Given the description of an element on the screen output the (x, y) to click on. 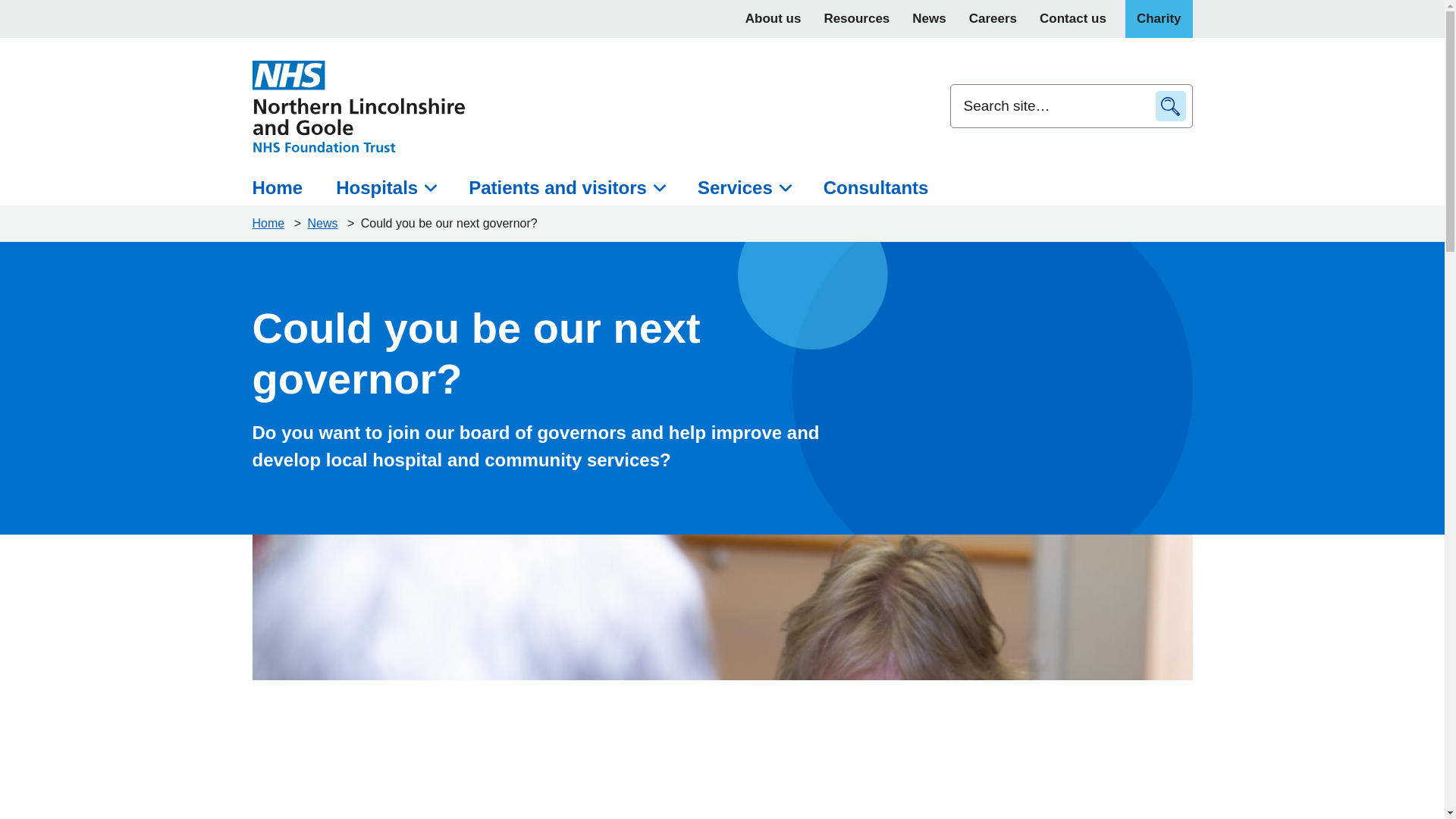
Homepage (268, 223)
Resources (856, 18)
Patients and visitors (566, 187)
Services (743, 187)
Go to News. (323, 223)
Hospitals (384, 187)
Charity (1158, 18)
News (928, 18)
About us (772, 18)
Home (284, 187)
Search (1171, 105)
Search (1171, 105)
Contact us (1072, 18)
Search (1171, 105)
